Given the description of an element on the screen output the (x, y) to click on. 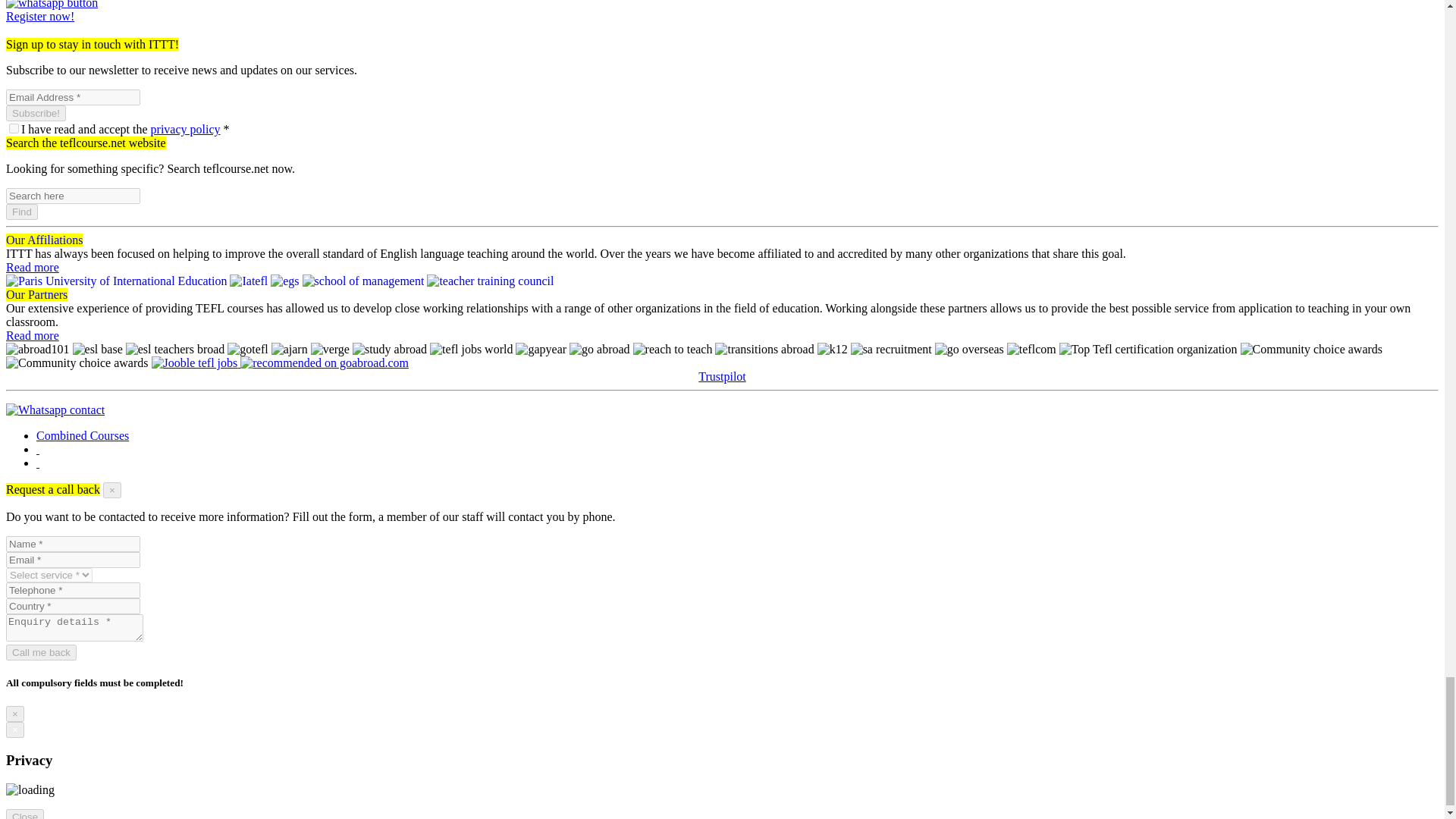
school of management (363, 281)
teacher training council (489, 281)
egs (284, 281)
Iatefl (248, 281)
1 (13, 128)
Paris University of International Education (116, 281)
